Given the description of an element on the screen output the (x, y) to click on. 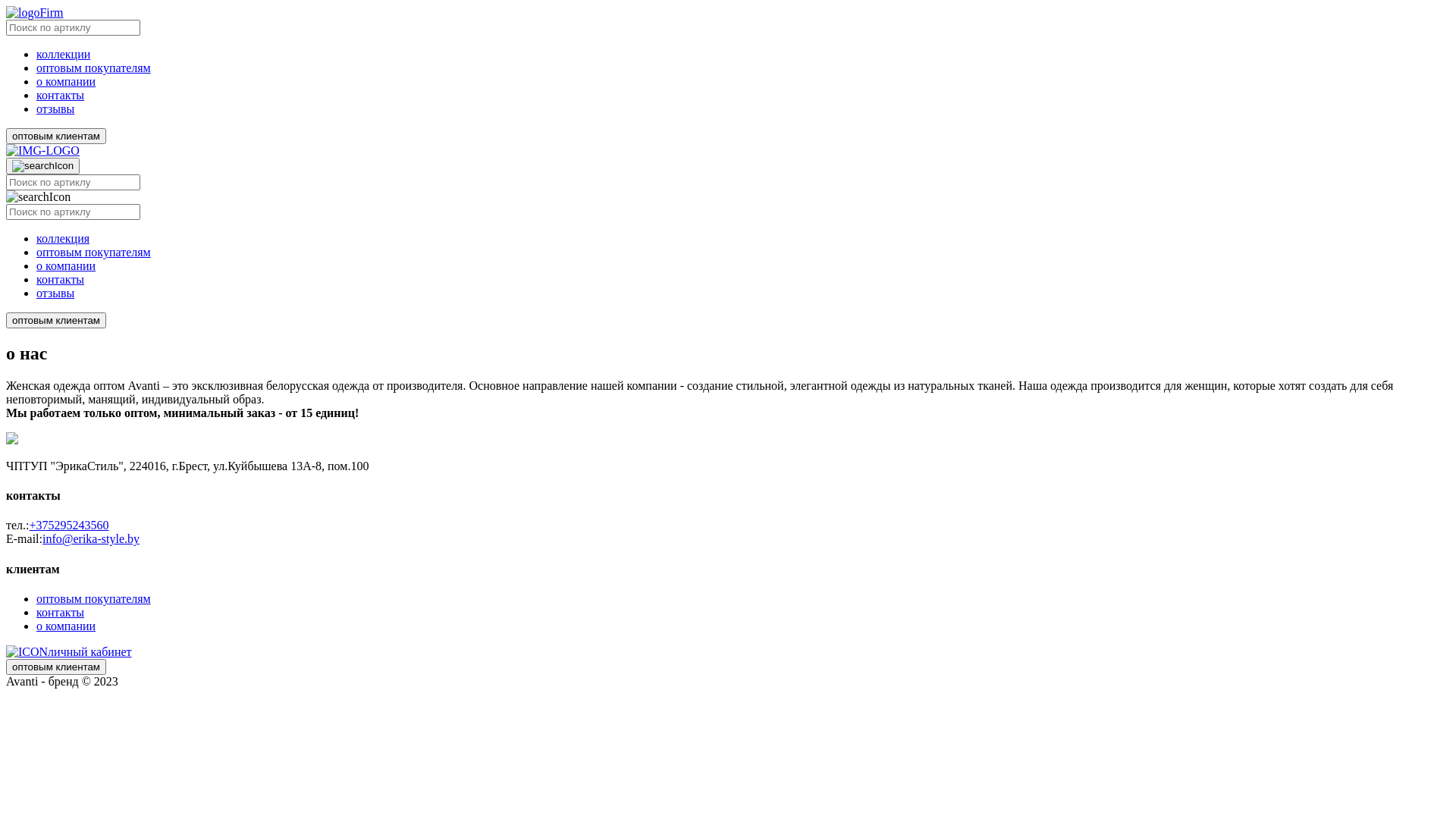
info@erika-style.by Element type: text (90, 538)
+375295243560 Element type: text (69, 524)
